Given the description of an element on the screen output the (x, y) to click on. 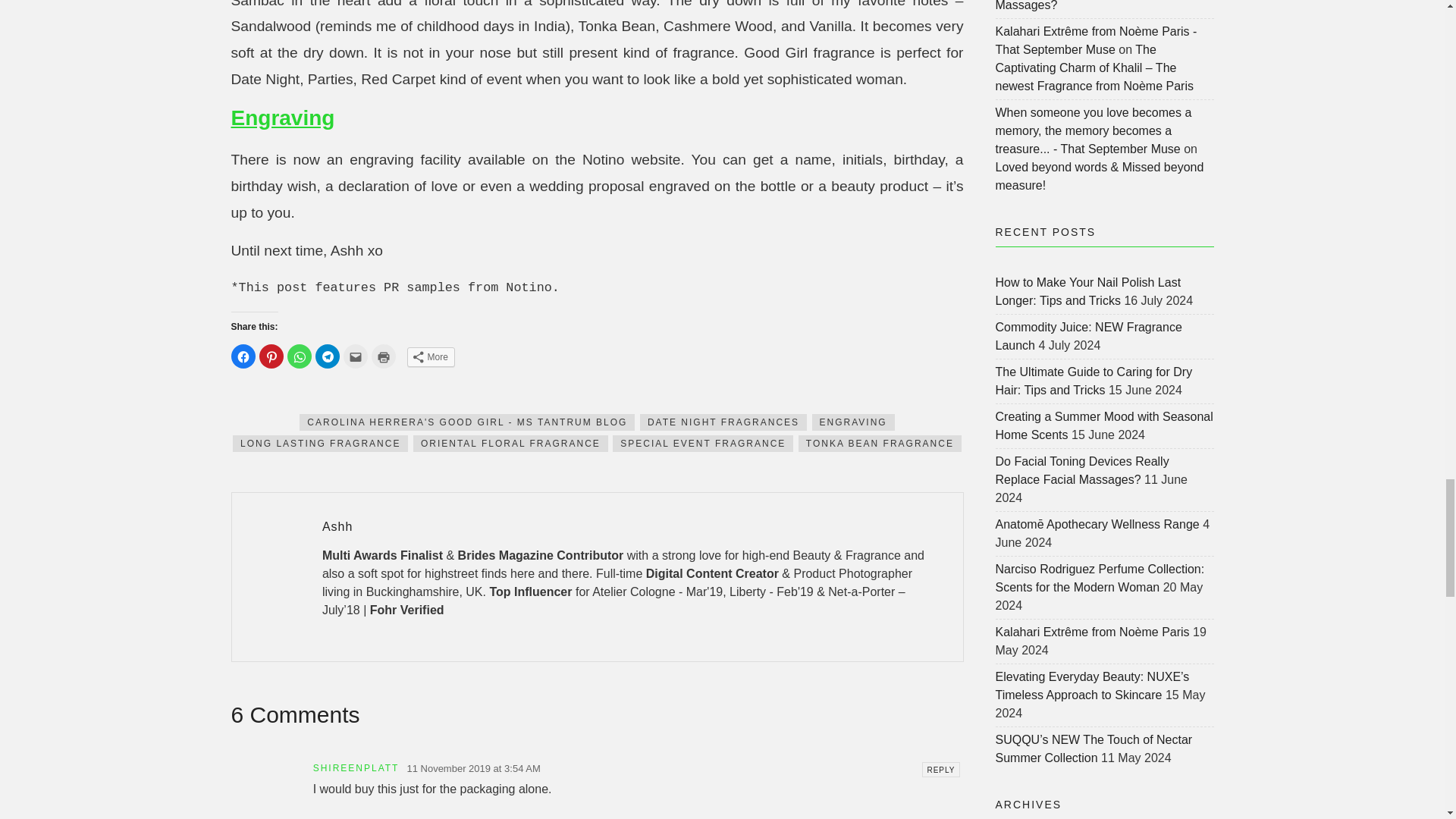
Click to print (383, 355)
ENGRAVING (853, 422)
CAROLINA HERRERA'S GOOD GIRL - MS TANTRUM BLOG (466, 422)
More (430, 356)
Click to email this to a friend (354, 355)
Click to share on Pinterest (271, 355)
Click to share on Facebook (242, 355)
REPLY (940, 769)
ORIENTAL FLORAL FRAGRANCE (510, 443)
11 November 2019 at 3:54 AM (473, 768)
TONKA BEAN FRAGRANCE (878, 443)
Click to share on WhatsApp (298, 355)
Engraving (282, 117)
DATE NIGHT FRAGRANCES (723, 422)
LONG LASTING FRAGRANCE (319, 443)
